Given the description of an element on the screen output the (x, y) to click on. 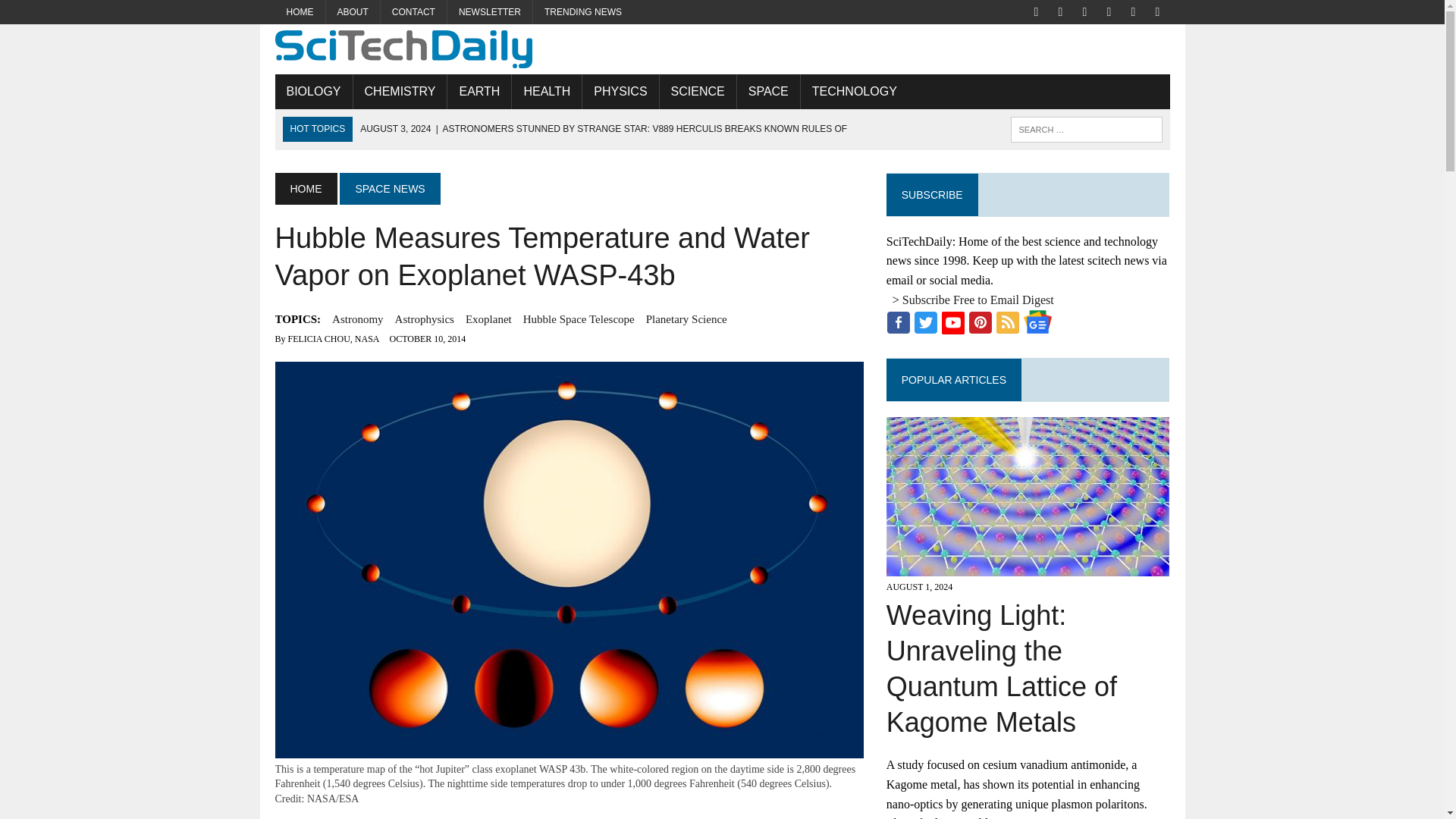
Exoplanet (488, 319)
Astronomy (357, 319)
HEALTH (546, 91)
HOME (299, 12)
Search (75, 14)
SPACE NEWS (389, 188)
SCIENCE (697, 91)
BIOLOGY (313, 91)
ABOUT (353, 12)
TRENDING NEWS (582, 12)
HOME (305, 188)
Astrophysics (424, 319)
SciTechDaily (722, 48)
SciTechDaily Newsletter (489, 12)
CHEMISTRY (399, 91)
